Given the description of an element on the screen output the (x, y) to click on. 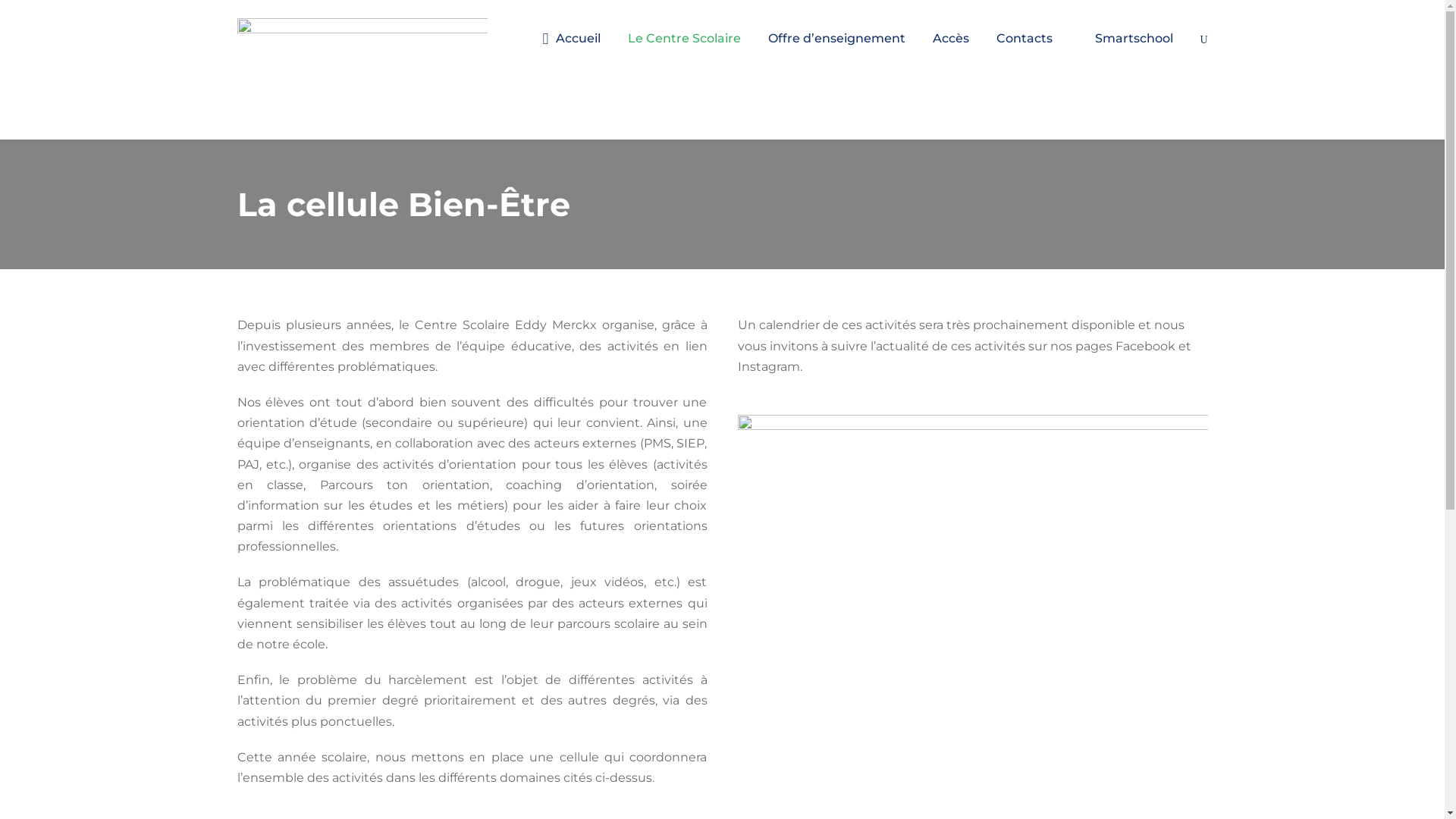
Le Centre Scolaire Element type: text (683, 51)
Contacts Element type: text (1024, 51)
Accueil Element type: text (571, 51)
Smartschool Element type: text (1126, 51)
